Given the description of an element on the screen output the (x, y) to click on. 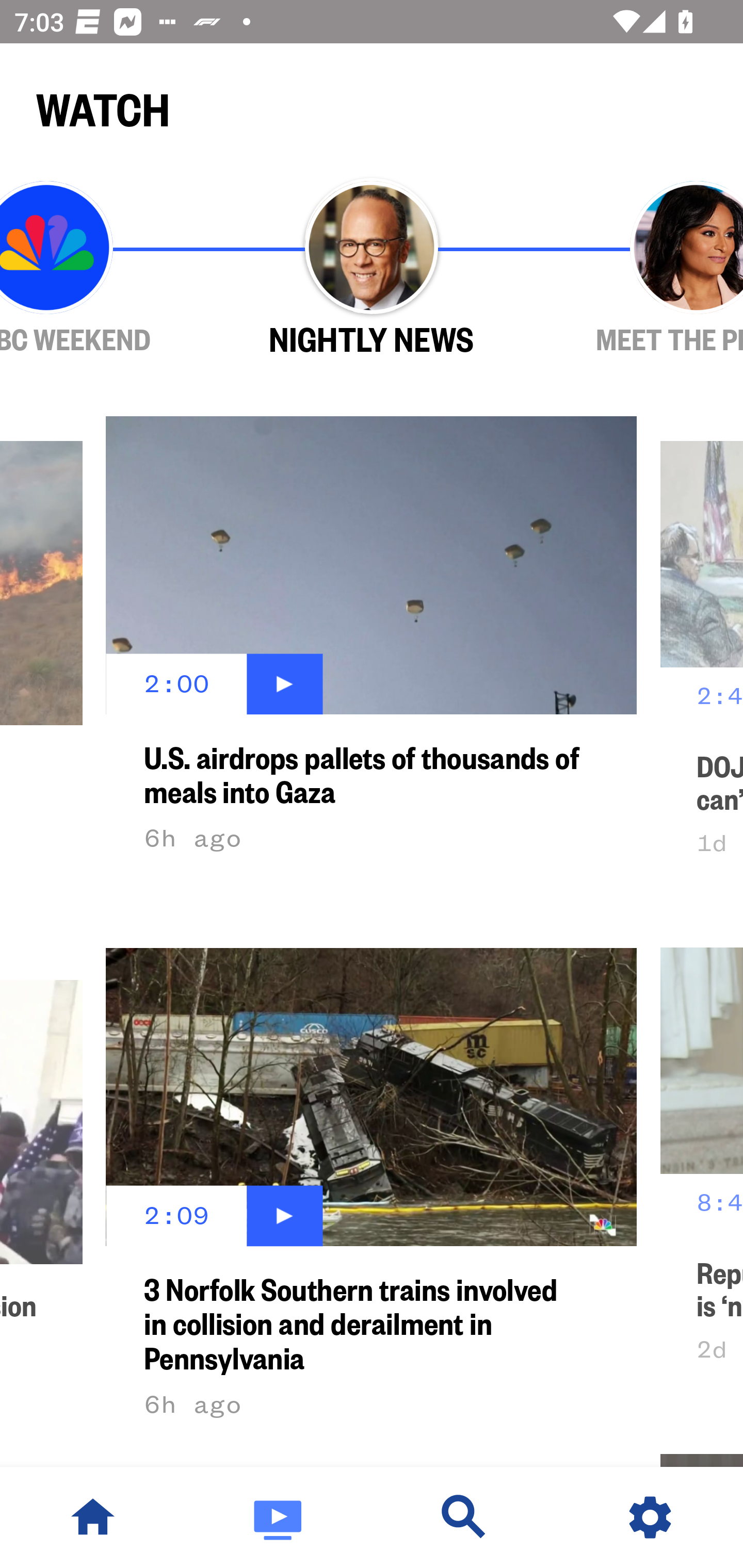
MSNBC WEEKEND (104, 268)
NIGHTLY NEWS (371, 268)
MEET THE PRESS (638, 268)
NBC News Home (92, 1517)
Discover (464, 1517)
Settings (650, 1517)
